Given the description of an element on the screen output the (x, y) to click on. 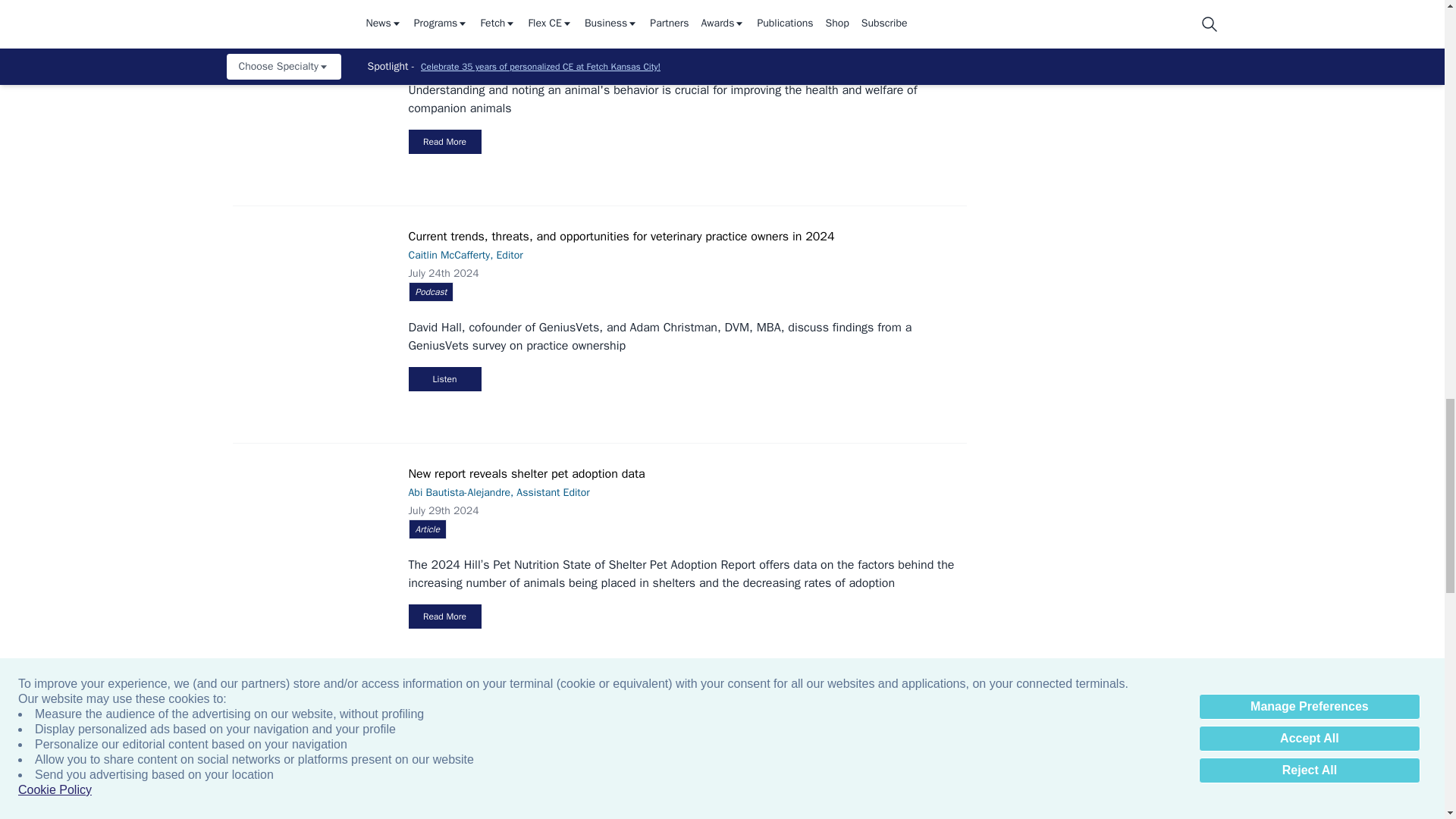
Behavioral clues to metabolic diseases in dogs and cats (317, 46)
